Given the description of an element on the screen output the (x, y) to click on. 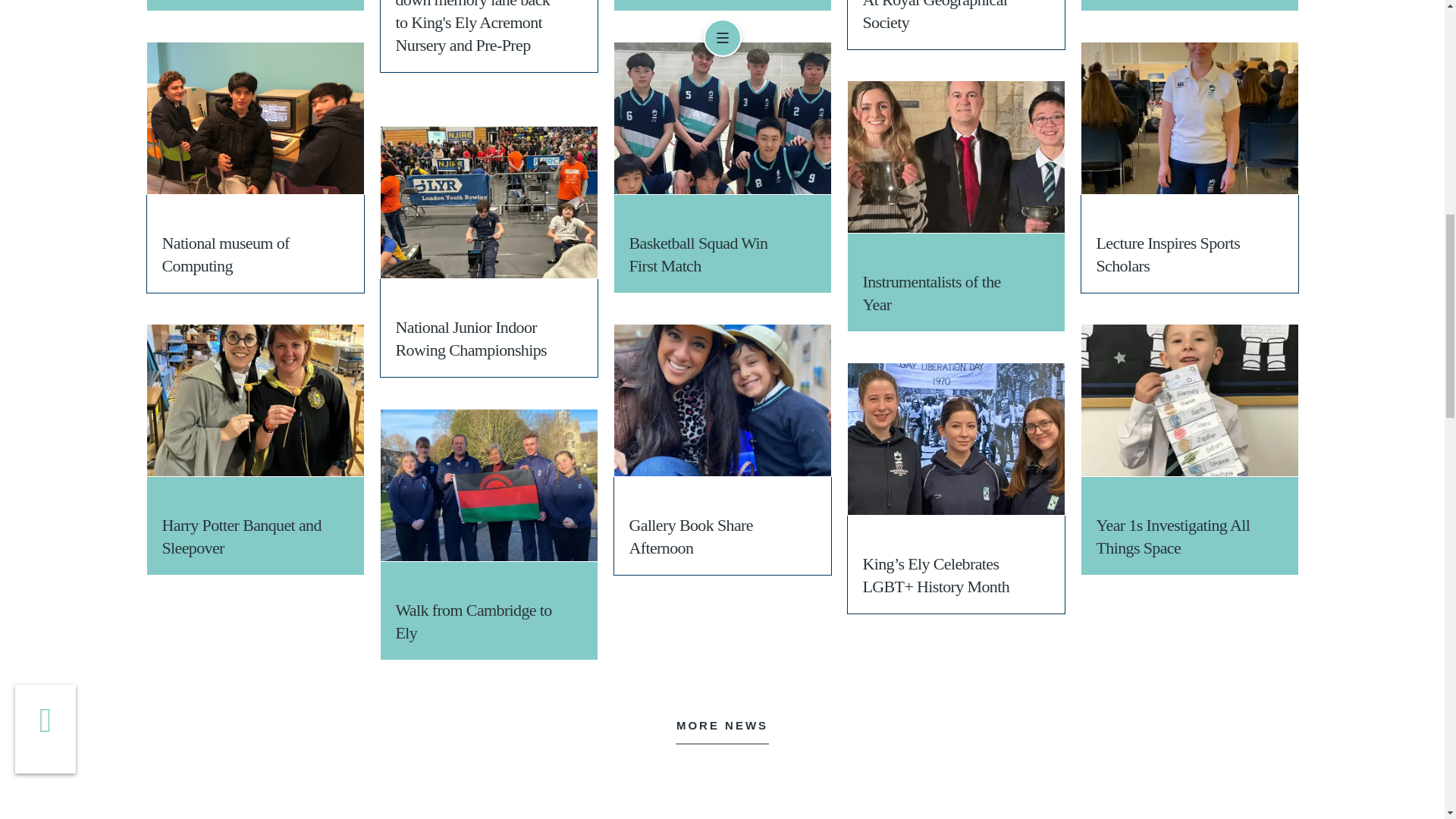
Lecture Inspires Sports Scholars (1189, 118)
Gallery Book Share Afternoon (722, 399)
Walk from Cambridge to Ely (488, 485)
Basketball Squad Win First Match (722, 118)
National Junior Indoor Rowing Championships (488, 202)
Instrumentalists of the Year (955, 156)
Harry Potter Banquet and Sleepover (255, 399)
Year 1s Investigating All Things Space (1189, 399)
National museum of Computing (255, 118)
